Given the description of an element on the screen output the (x, y) to click on. 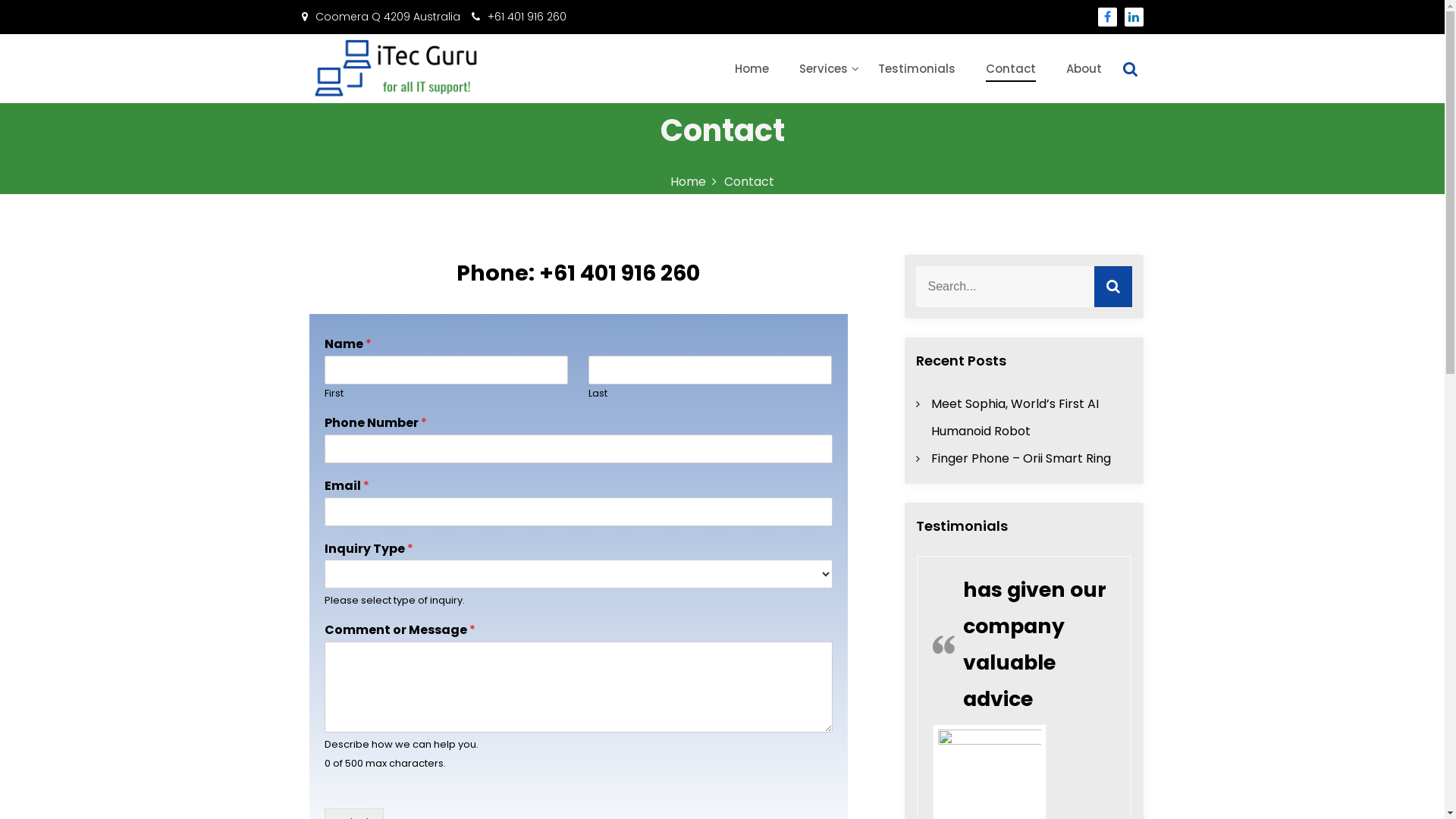
Testimonials Element type: text (916, 68)
iTec Guru Element type: text (342, 114)
Services Element type: text (823, 68)
Home Element type: text (751, 68)
+61 401 916 260 Element type: text (518, 16)
has given our company valuable advice Element type: text (1034, 643)
Contact Element type: text (1010, 68)
About Element type: text (1083, 68)
Home Element type: text (693, 181)
